Given the description of an element on the screen output the (x, y) to click on. 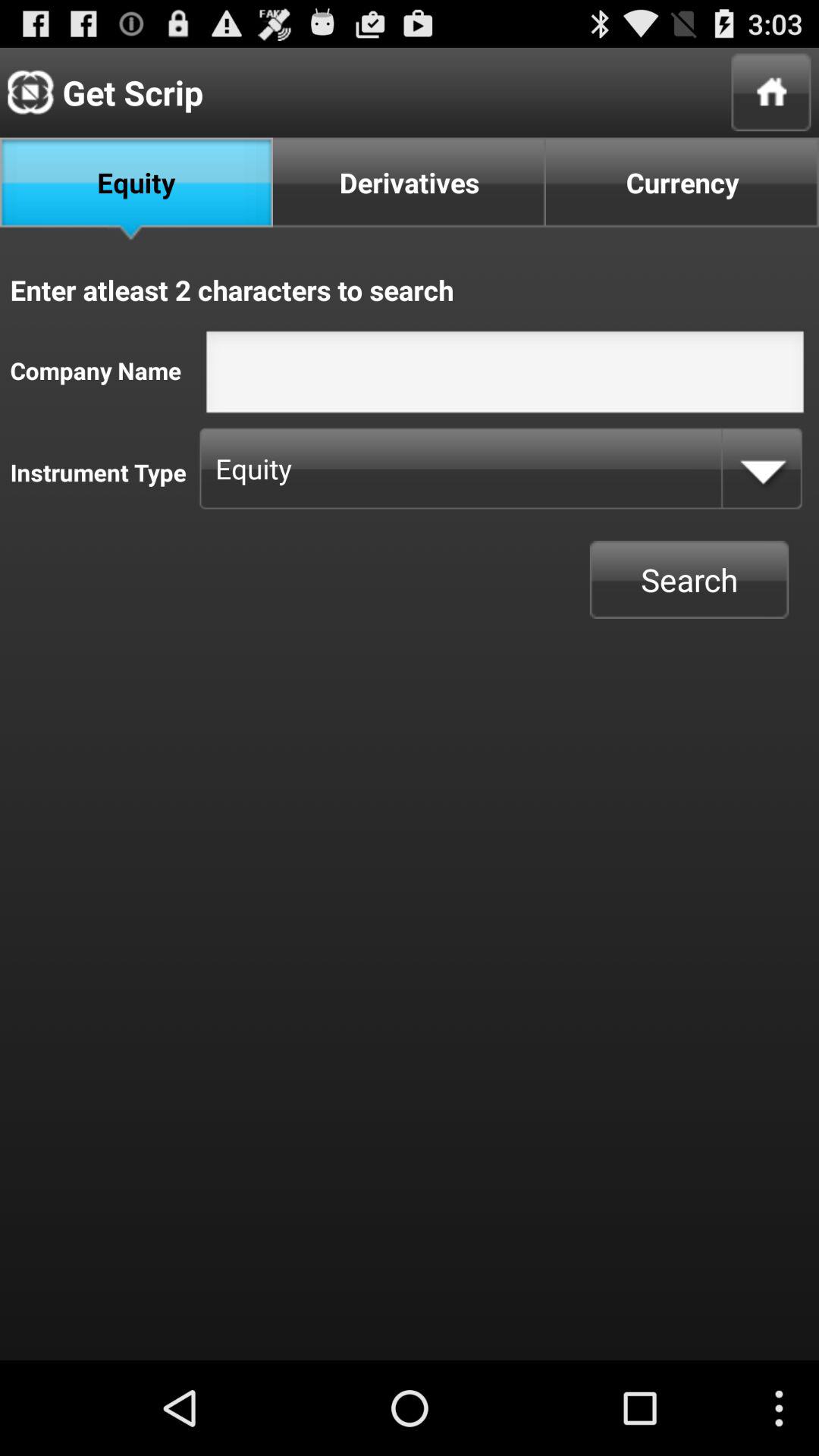
screen page (504, 376)
